Given the description of an element on the screen output the (x, y) to click on. 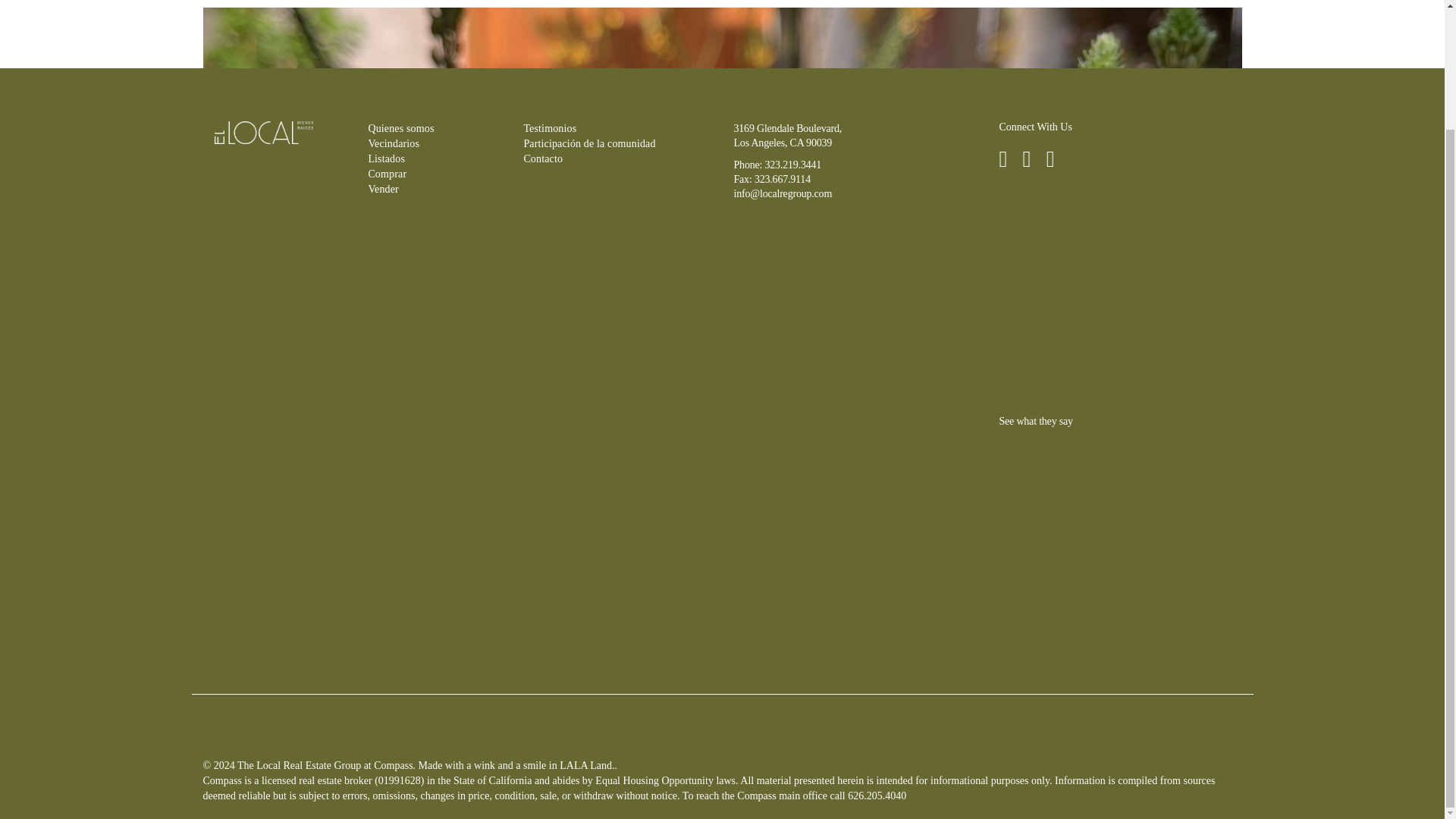
Mark Grimes (284, 801)
